Given the description of an element on the screen output the (x, y) to click on. 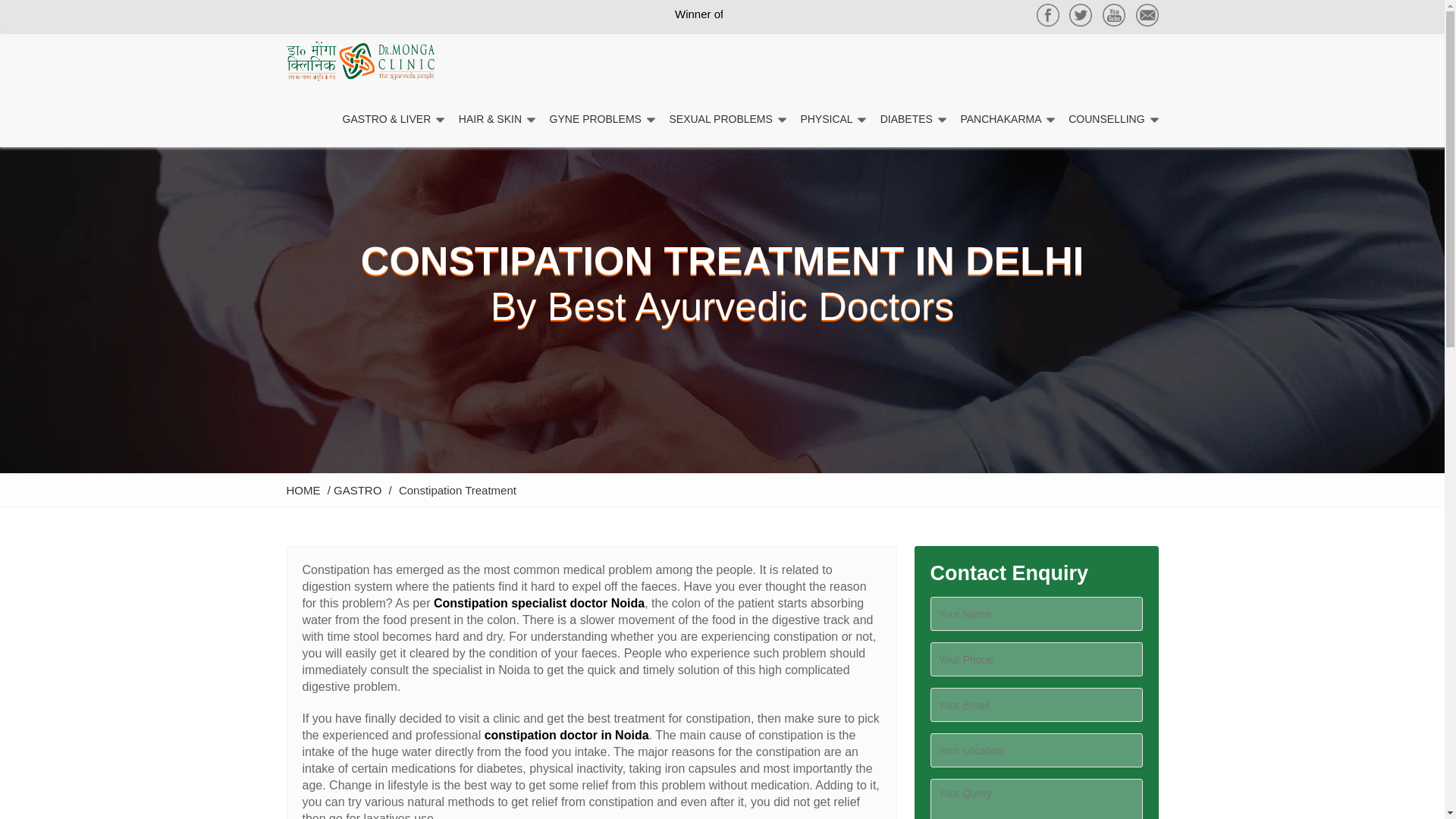
SEXUAL PROBLEMS (727, 119)
GYNE PROBLEMS (602, 119)
